Given the description of an element on the screen output the (x, y) to click on. 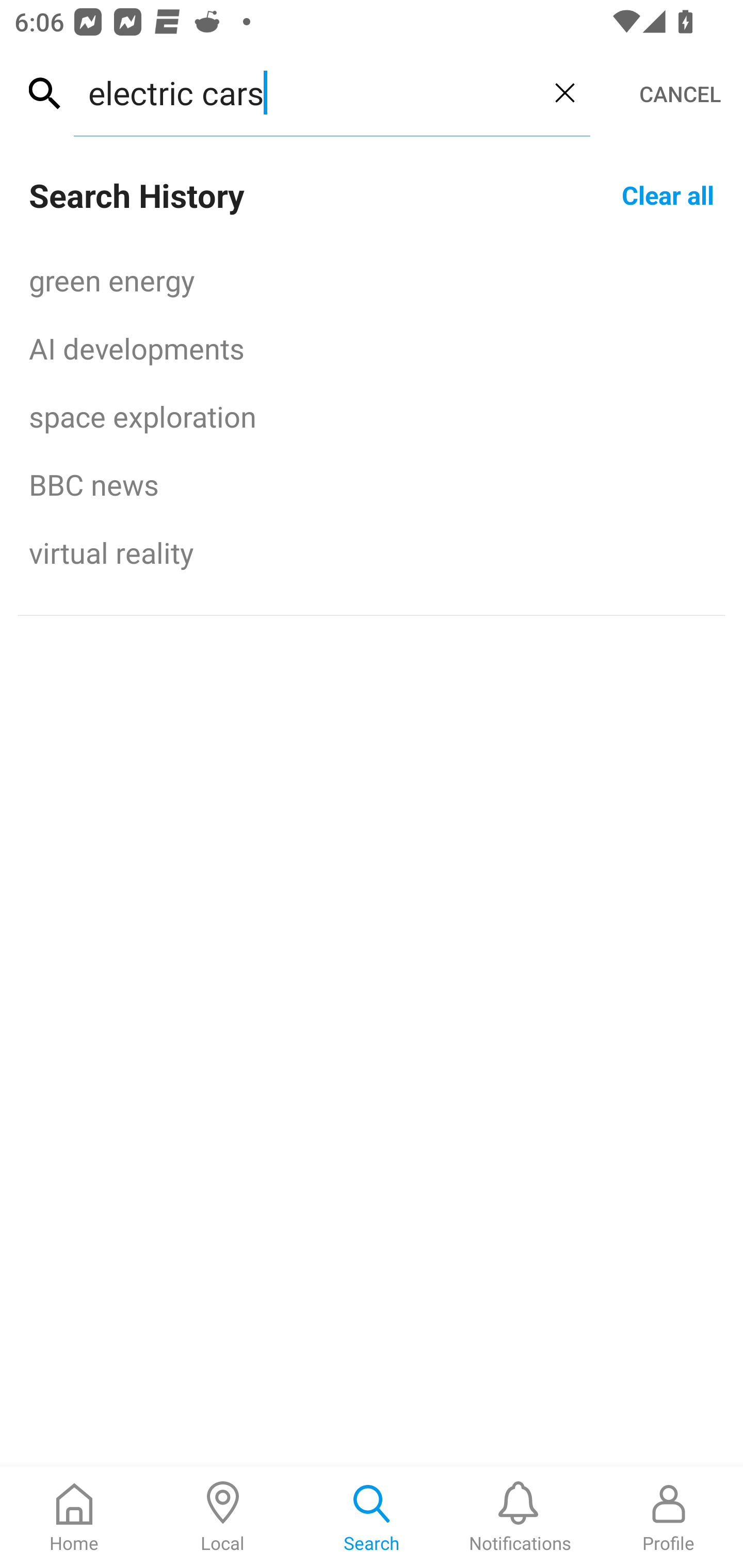
Clear query (564, 92)
CANCEL (680, 93)
electric cars (306, 92)
Clear all (667, 194)
green energy (371, 279)
AI developments (371, 347)
space exploration (371, 416)
BBC news (371, 484)
virtual reality (371, 552)
Home (74, 1517)
Local (222, 1517)
Notifications (519, 1517)
Profile (668, 1517)
